Given the description of an element on the screen output the (x, y) to click on. 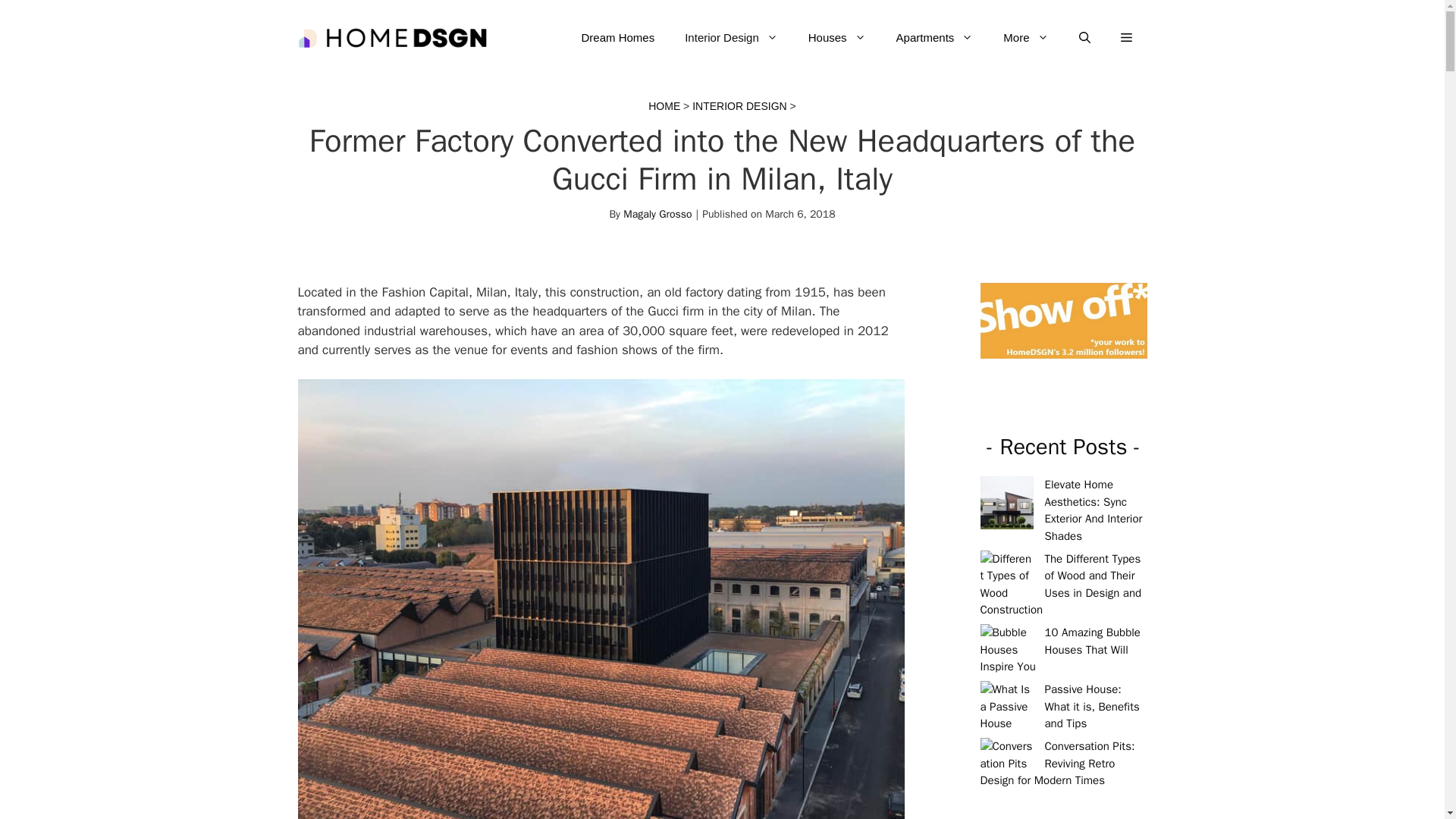
Dream Homes (617, 37)
More (1025, 37)
Interior Design (731, 37)
Show-off-your-work (1063, 320)
Houses (836, 37)
Apartments (934, 37)
